Given the description of an element on the screen output the (x, y) to click on. 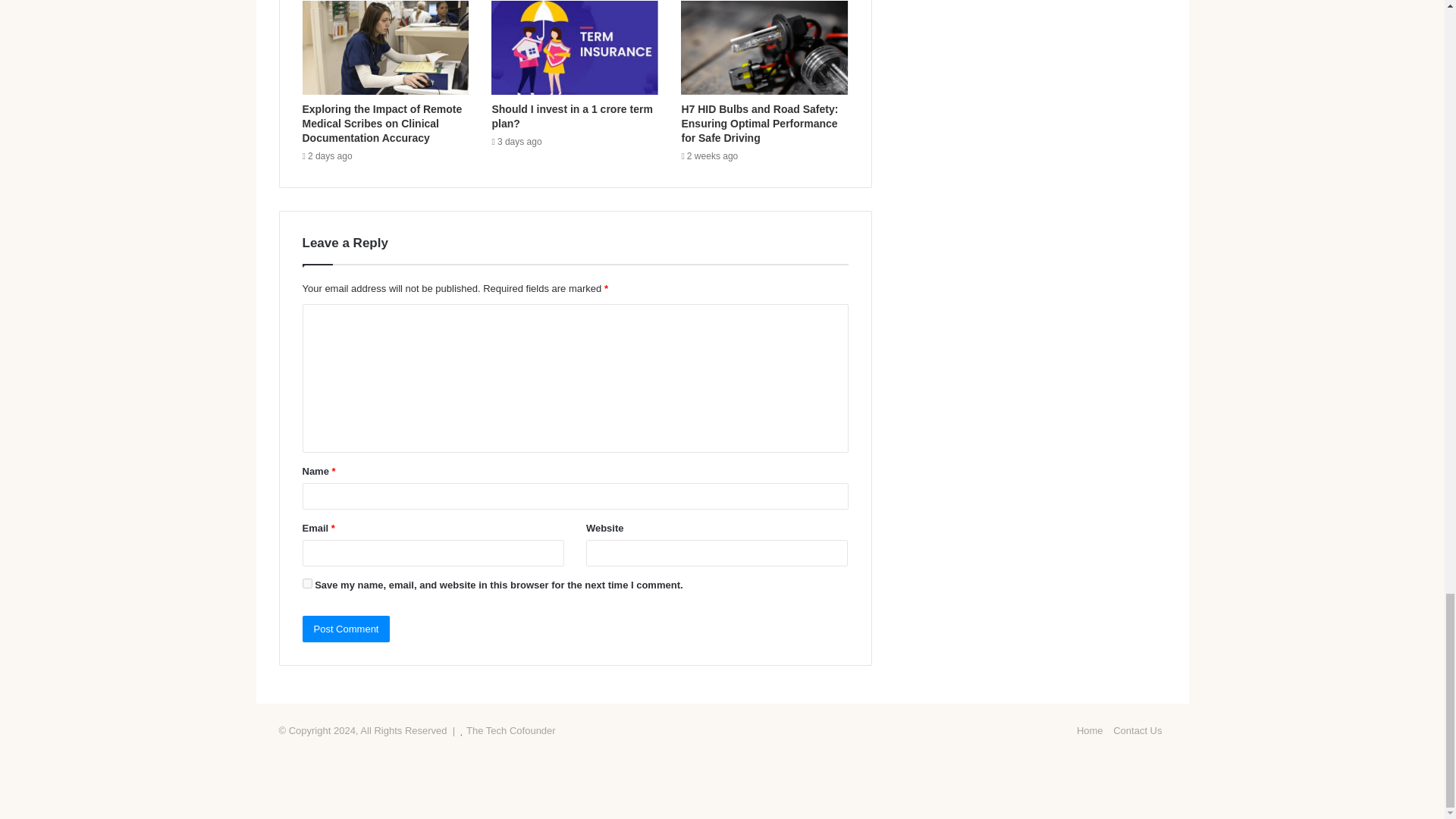
yes (306, 583)
Post Comment (345, 628)
